Given the description of an element on the screen output the (x, y) to click on. 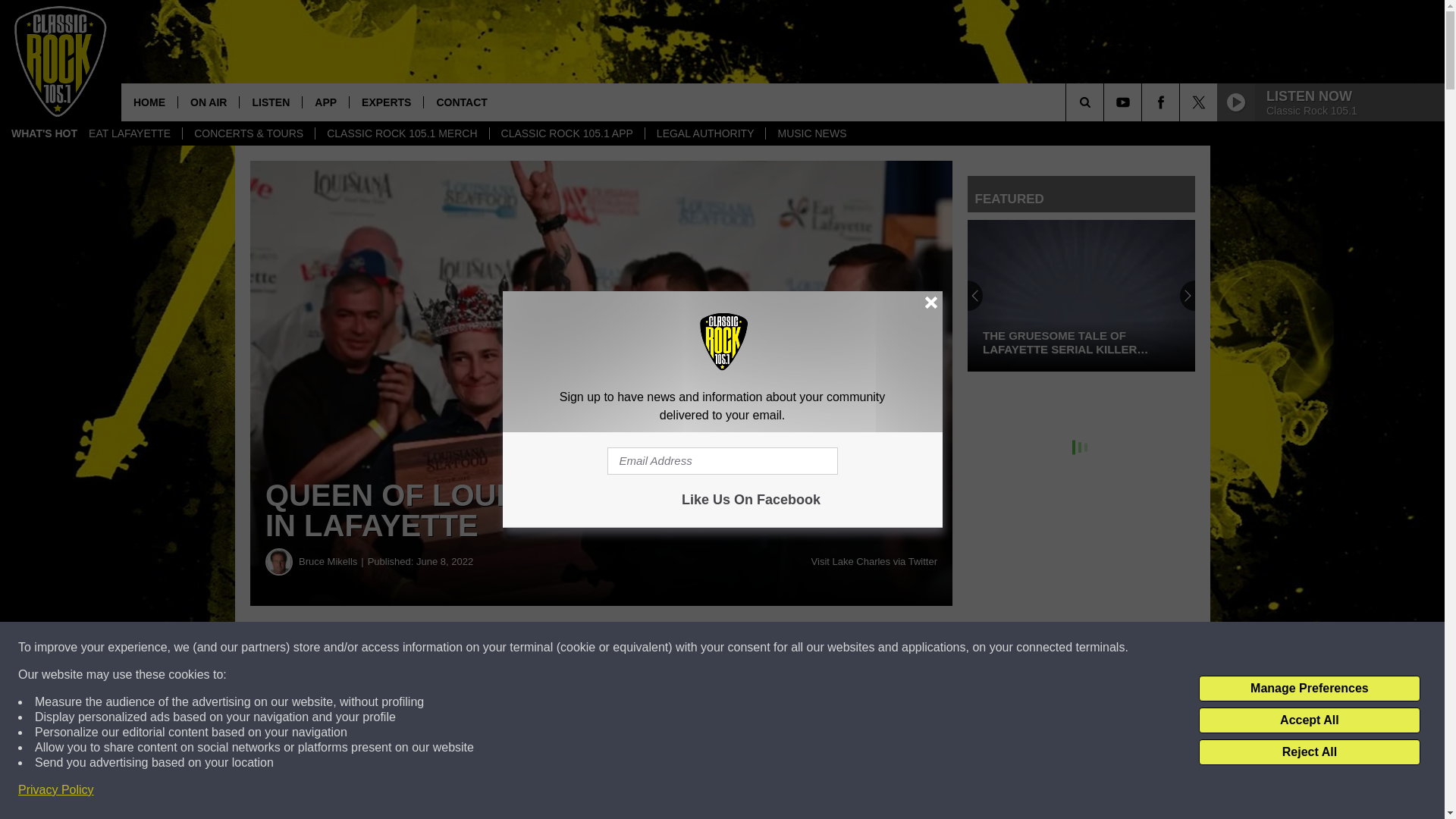
Privacy Policy (55, 789)
CLASSIC ROCK 105.1 MERCH (400, 133)
MUSIC NEWS (811, 133)
Share on Facebook (460, 647)
HOME (148, 102)
SEARCH (1106, 102)
Share on Twitter (741, 647)
Email Address (722, 461)
Reject All (1309, 751)
LEGAL AUTHORITY (705, 133)
APP (325, 102)
LISTEN (269, 102)
Accept All (1309, 720)
EXPERTS (386, 102)
CLASSIC ROCK 105.1 APP (567, 133)
